Given the description of an element on the screen output the (x, y) to click on. 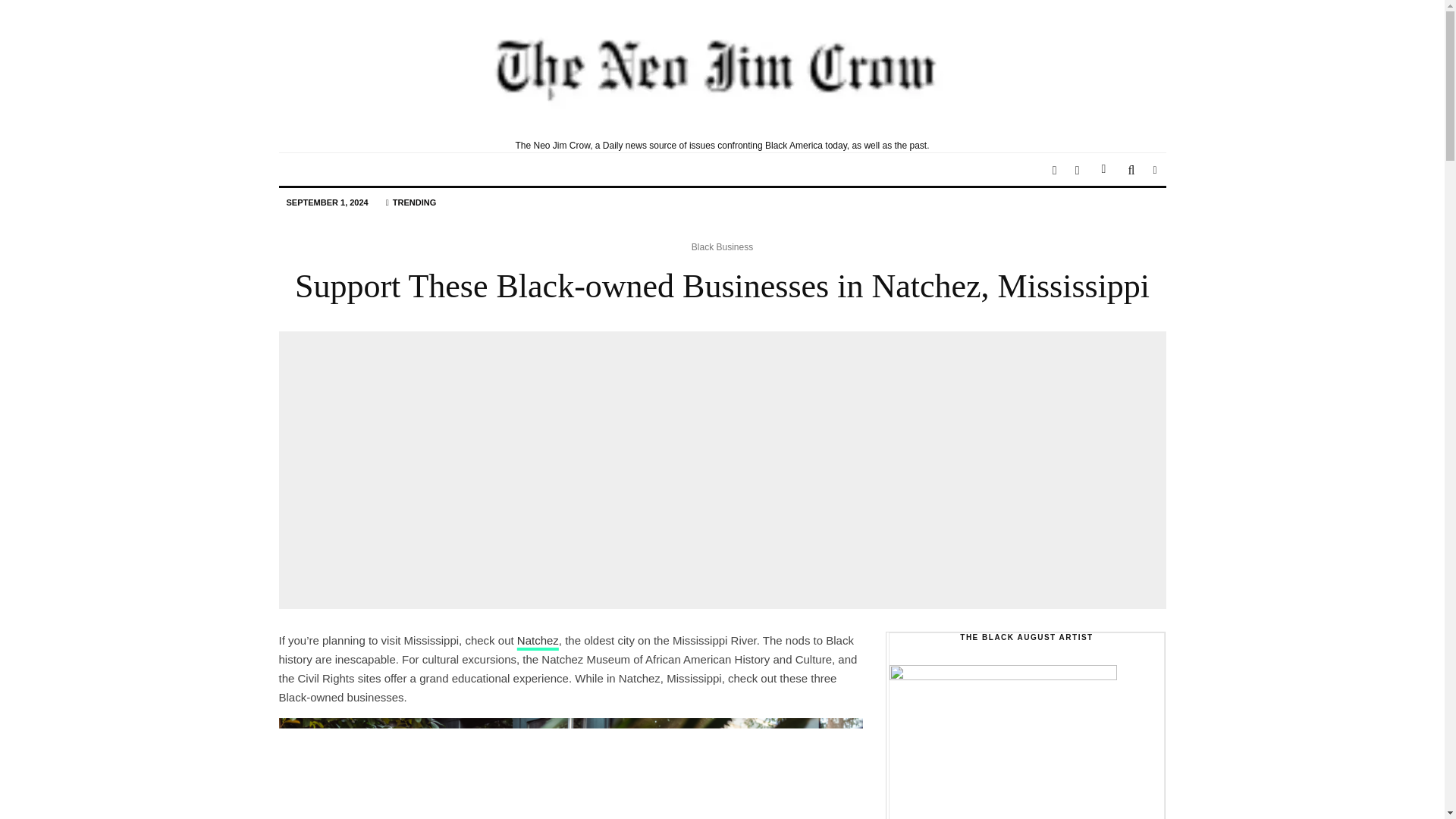
TRENDING (410, 202)
Natchez (537, 640)
Black Business (721, 247)
